Given the description of an element on the screen output the (x, y) to click on. 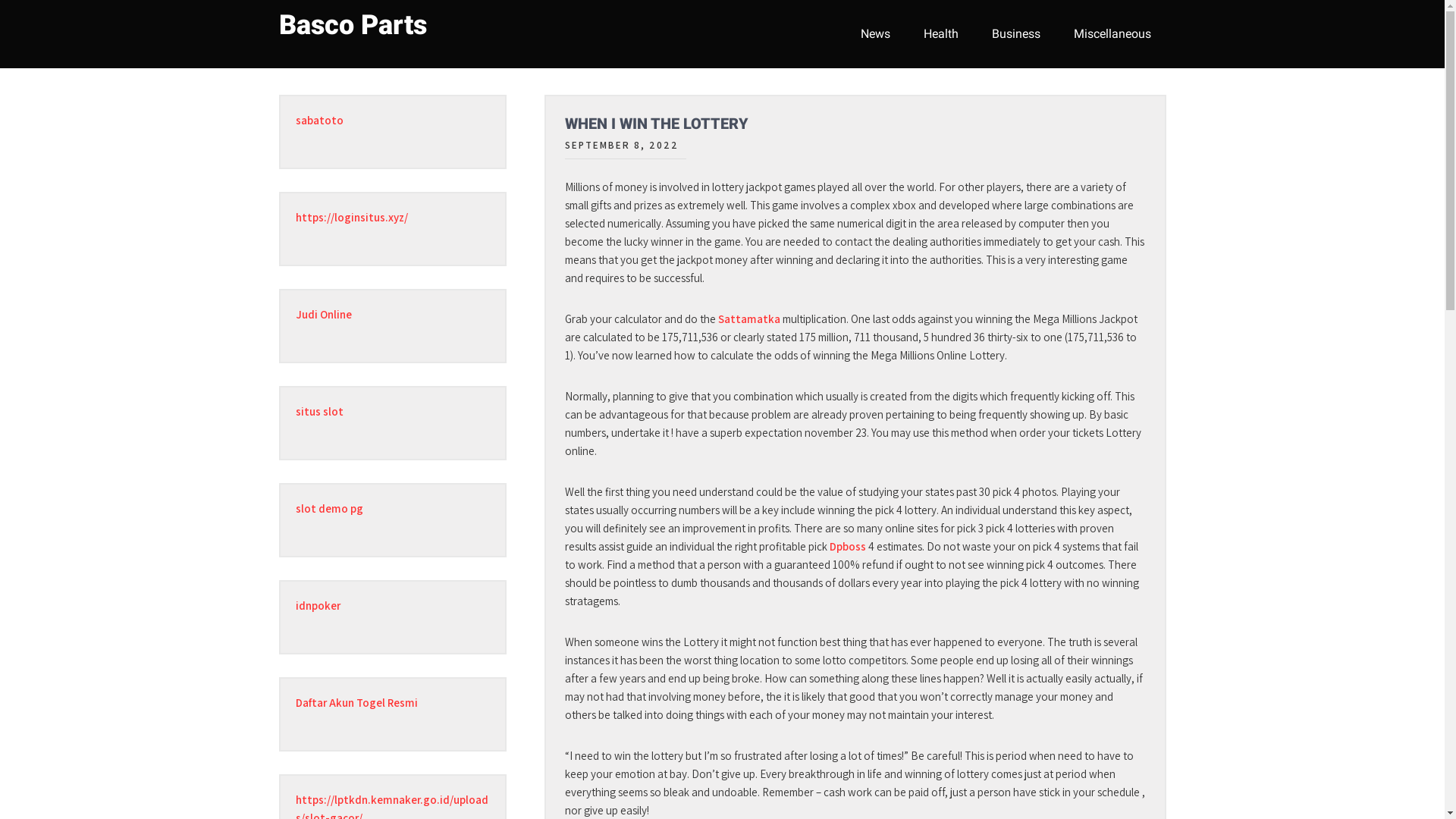
Judi Online Element type: text (323, 314)
situs slot Element type: text (319, 411)
sabatoto Element type: text (319, 119)
Dpboss Element type: text (847, 546)
Business Element type: text (1015, 33)
Basco Parts Element type: text (352, 24)
idnpoker Element type: text (317, 605)
Health Element type: text (940, 33)
Sattamatka Element type: text (748, 318)
https://loginsitus.xyz/ Element type: text (351, 217)
News Element type: text (874, 33)
Daftar Akun Togel Resmi Element type: text (356, 702)
Miscellaneous Element type: text (1112, 33)
slot demo pg Element type: text (329, 508)
